Given the description of an element on the screen output the (x, y) to click on. 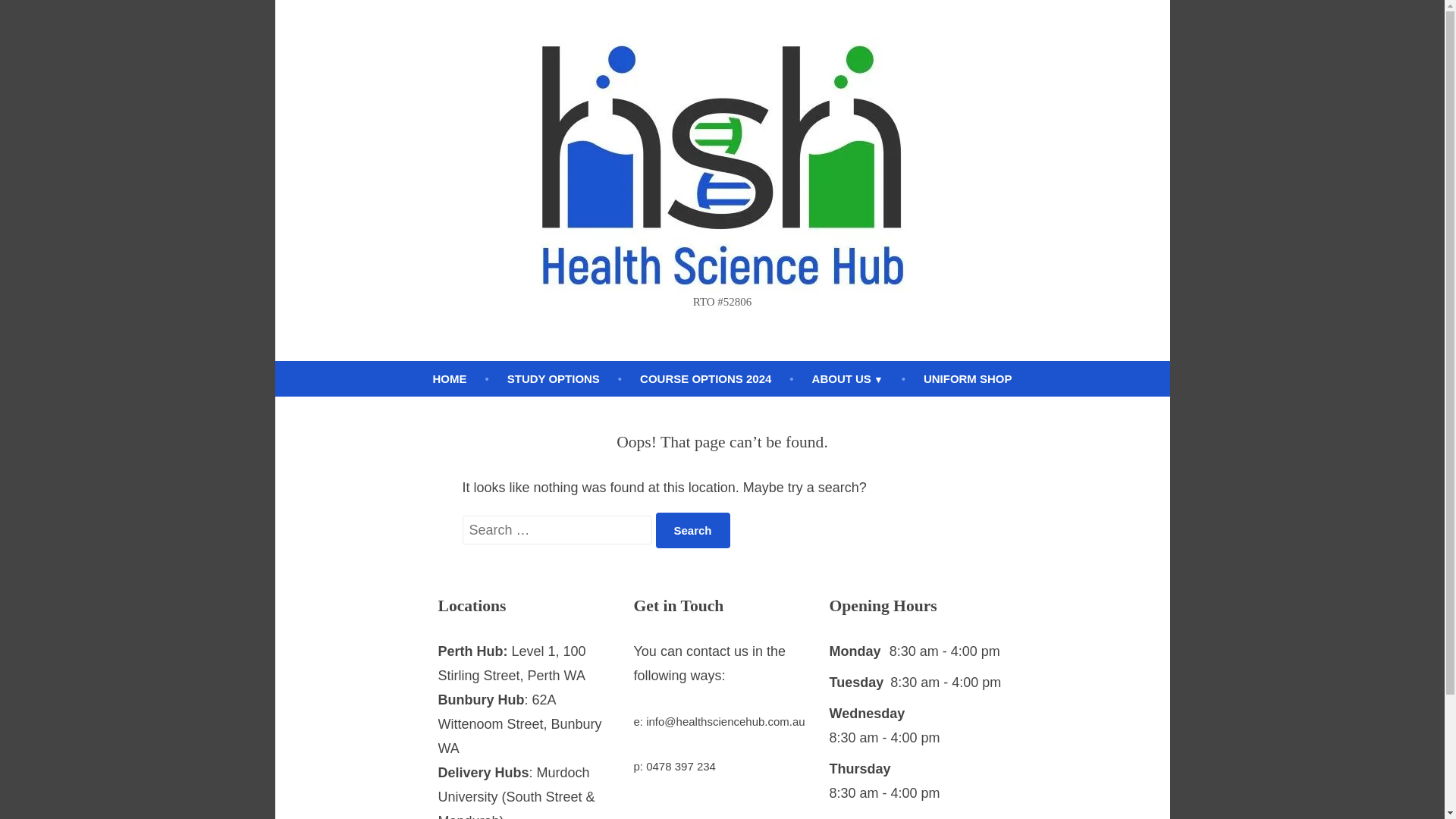
STUDY OPTIONS Element type: text (553, 378)
COURSE OPTIONS 2024 Element type: text (705, 378)
HOME Element type: text (449, 378)
Search Element type: text (692, 530)
ABOUT US Element type: text (847, 378)
UNIFORM SHOP Element type: text (967, 378)
